Given the description of an element on the screen output the (x, y) to click on. 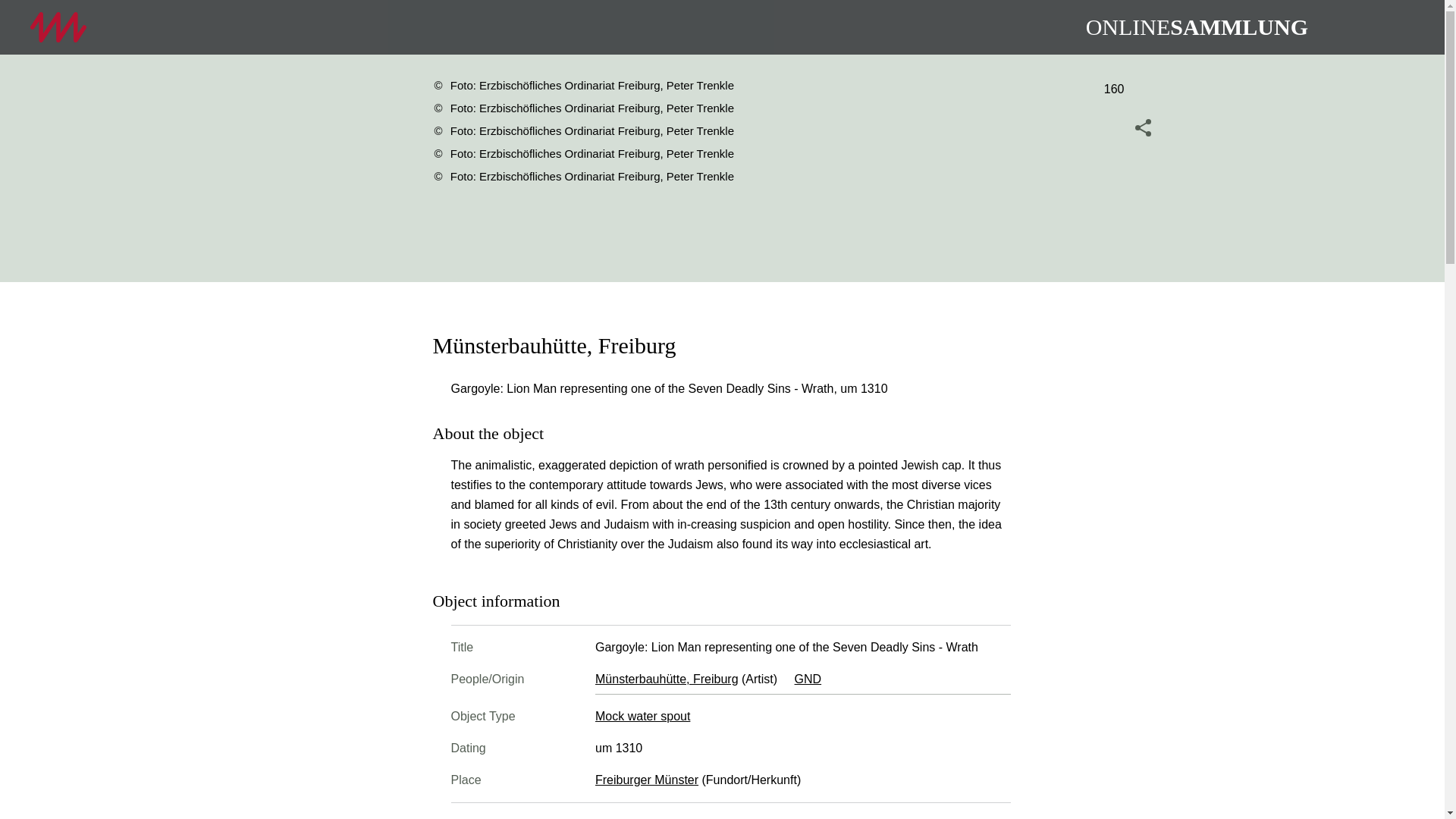
Go to search (1353, 27)
Show menu (1398, 27)
Go to Stadtische Museen (57, 27)
Print (1143, 163)
Homepage (1196, 27)
IIIF manifest (1143, 236)
Like (1143, 91)
Share (1143, 127)
Full screen (1143, 200)
ONLINESAMMLUNG (1196, 27)
